Given the description of an element on the screen output the (x, y) to click on. 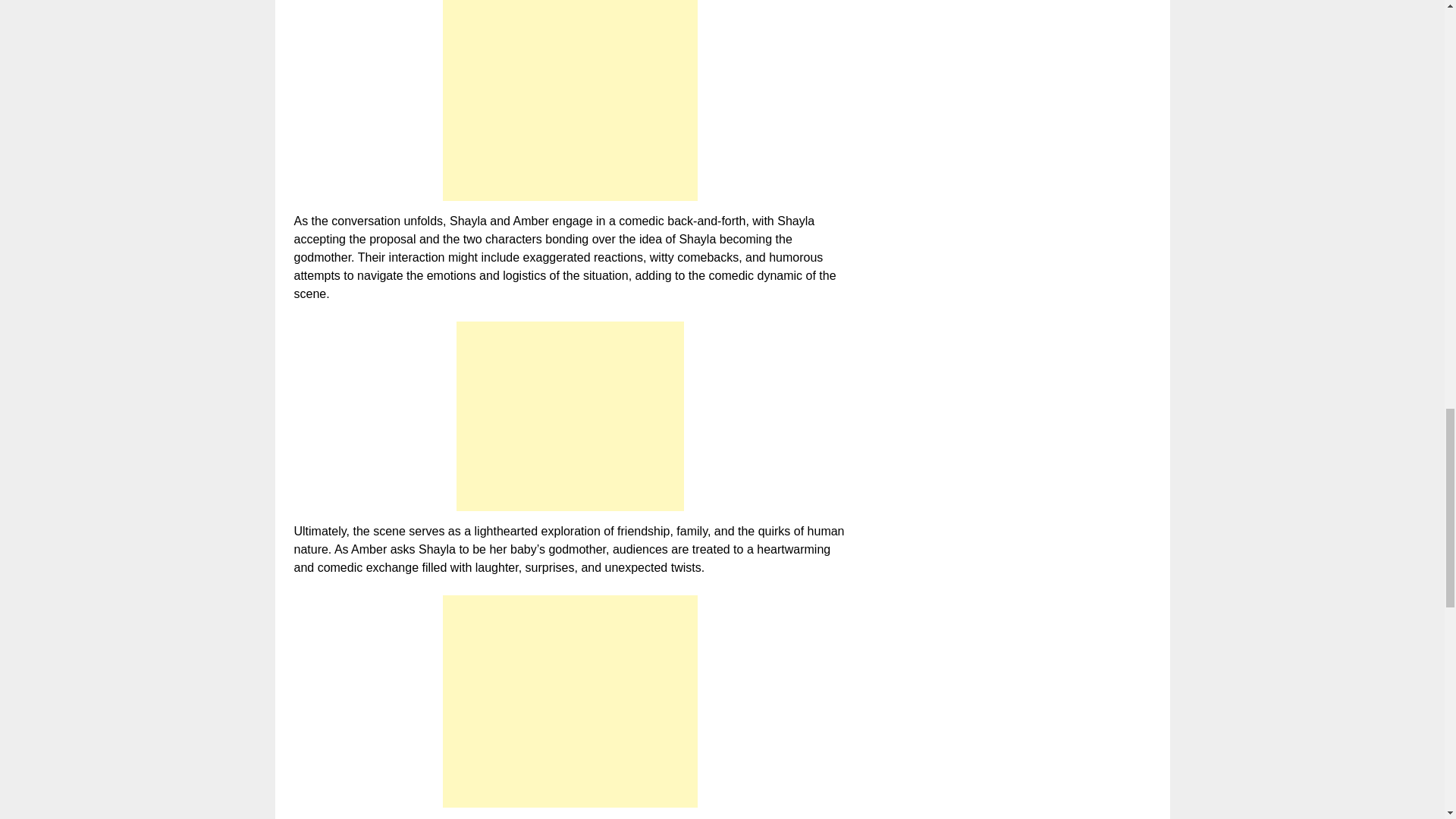
Advertisement (569, 701)
Advertisement (570, 416)
Advertisement (569, 100)
